Given the description of an element on the screen output the (x, y) to click on. 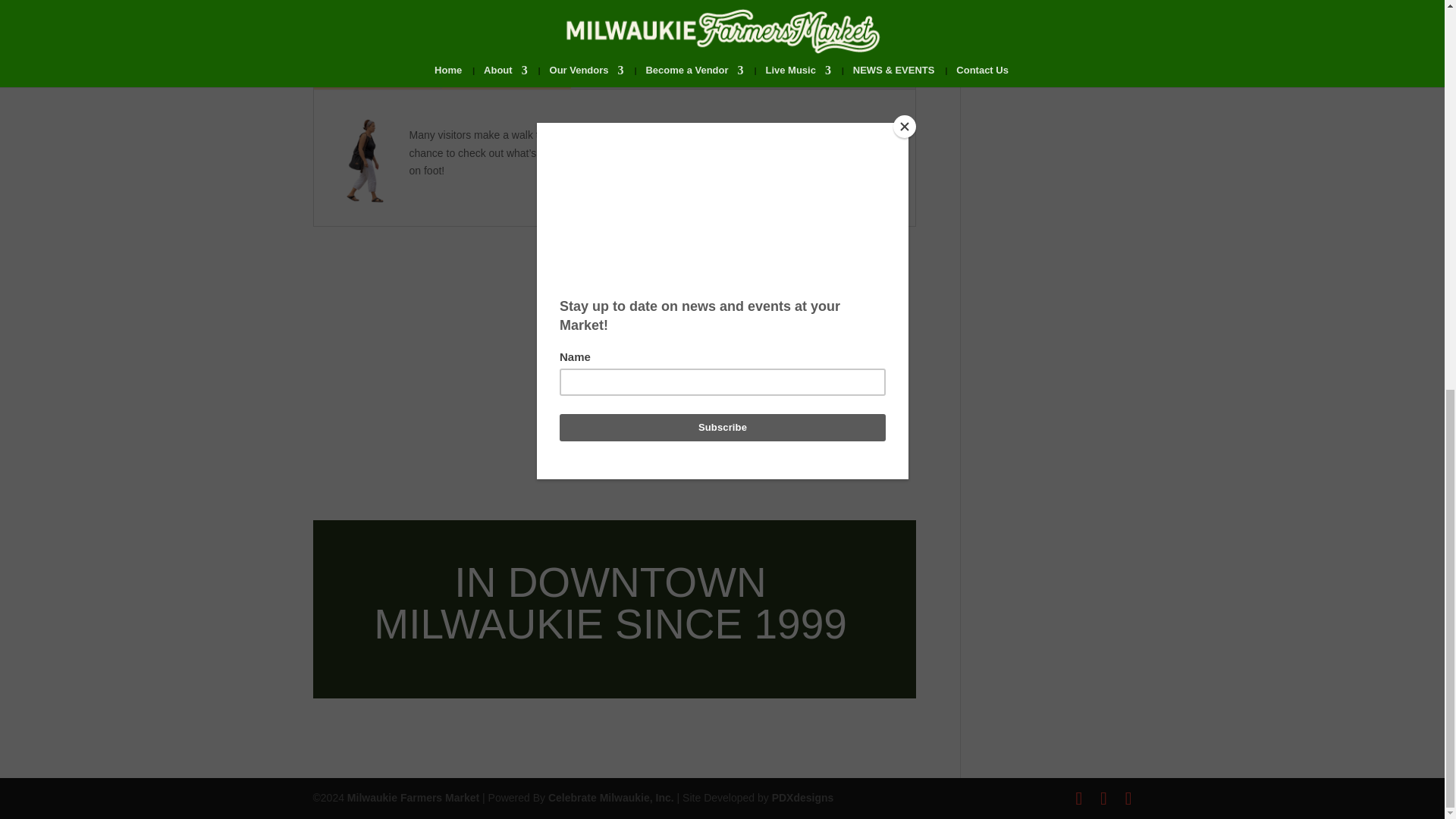
WALK TO THE MARKET (426, 41)
Subscribe (1057, 32)
GO BY BUS (377, 73)
GO BY TRAIN (748, 41)
GO BY BIKE (606, 41)
